Given the description of an element on the screen output the (x, y) to click on. 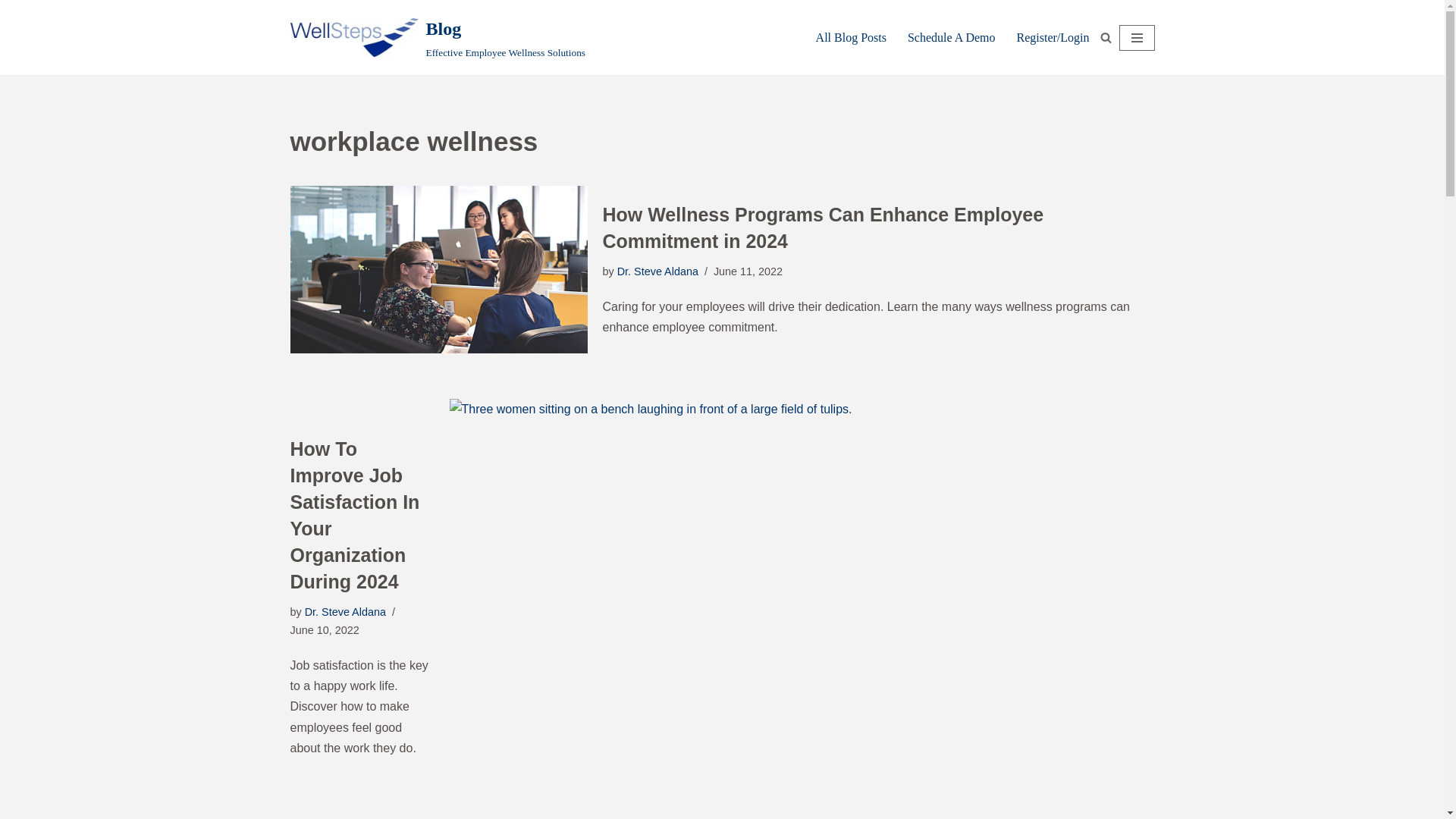
Dr. Steve Aldana (657, 271)
Navigation Menu (437, 37)
Skip to content (1136, 37)
Schedule A Demo (11, 31)
Dr. Steve Aldana (951, 37)
Posts by Dr. Steve Aldana (344, 612)
Posts by Dr. Steve Aldana (344, 612)
All Blog Posts (657, 271)
